Given the description of an element on the screen output the (x, y) to click on. 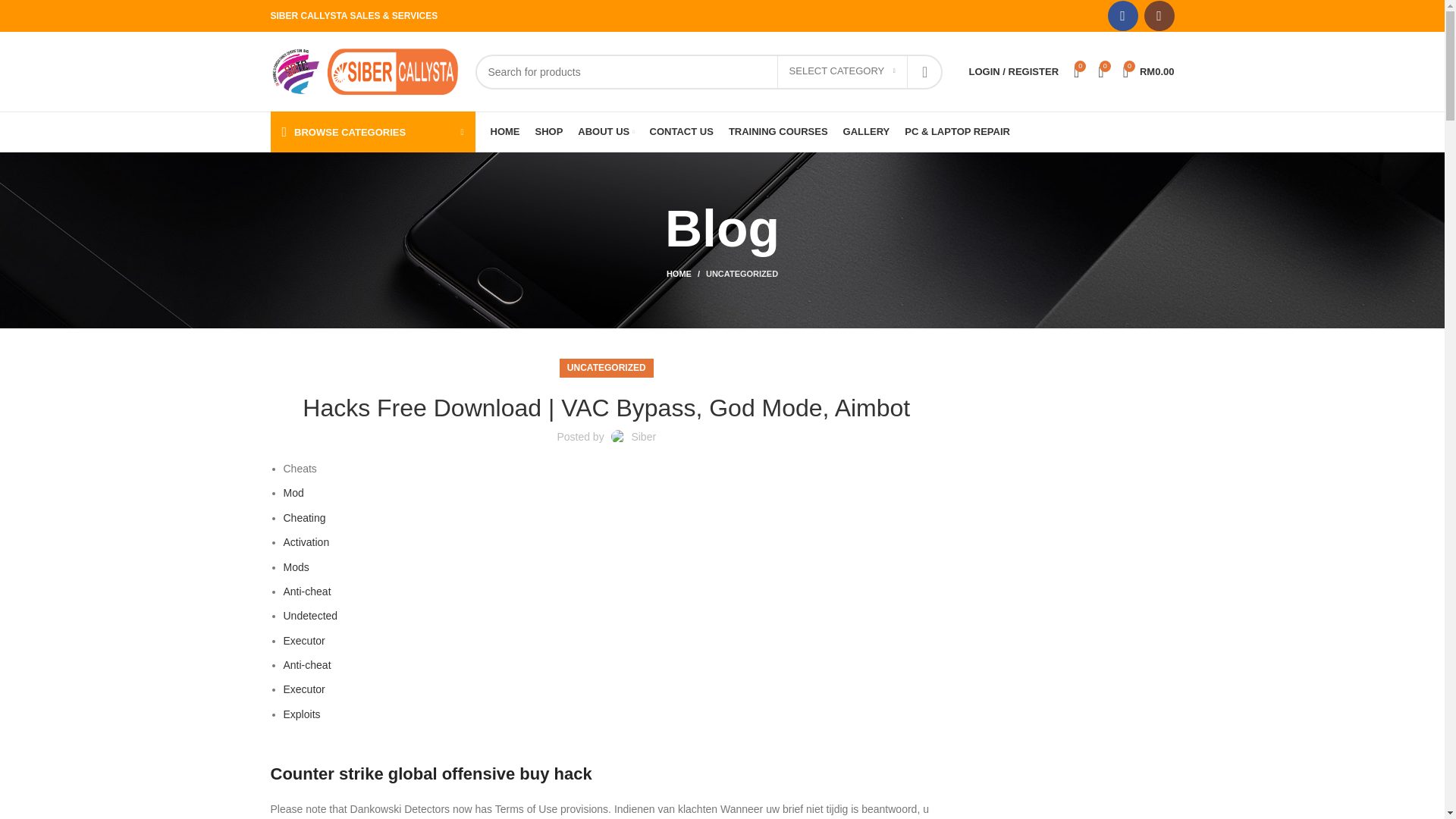
SELECT CATEGORY (842, 71)
Search for products (708, 71)
SELECT CATEGORY (842, 71)
My account (1012, 71)
Shopping cart (1148, 71)
